Given the description of an element on the screen output the (x, y) to click on. 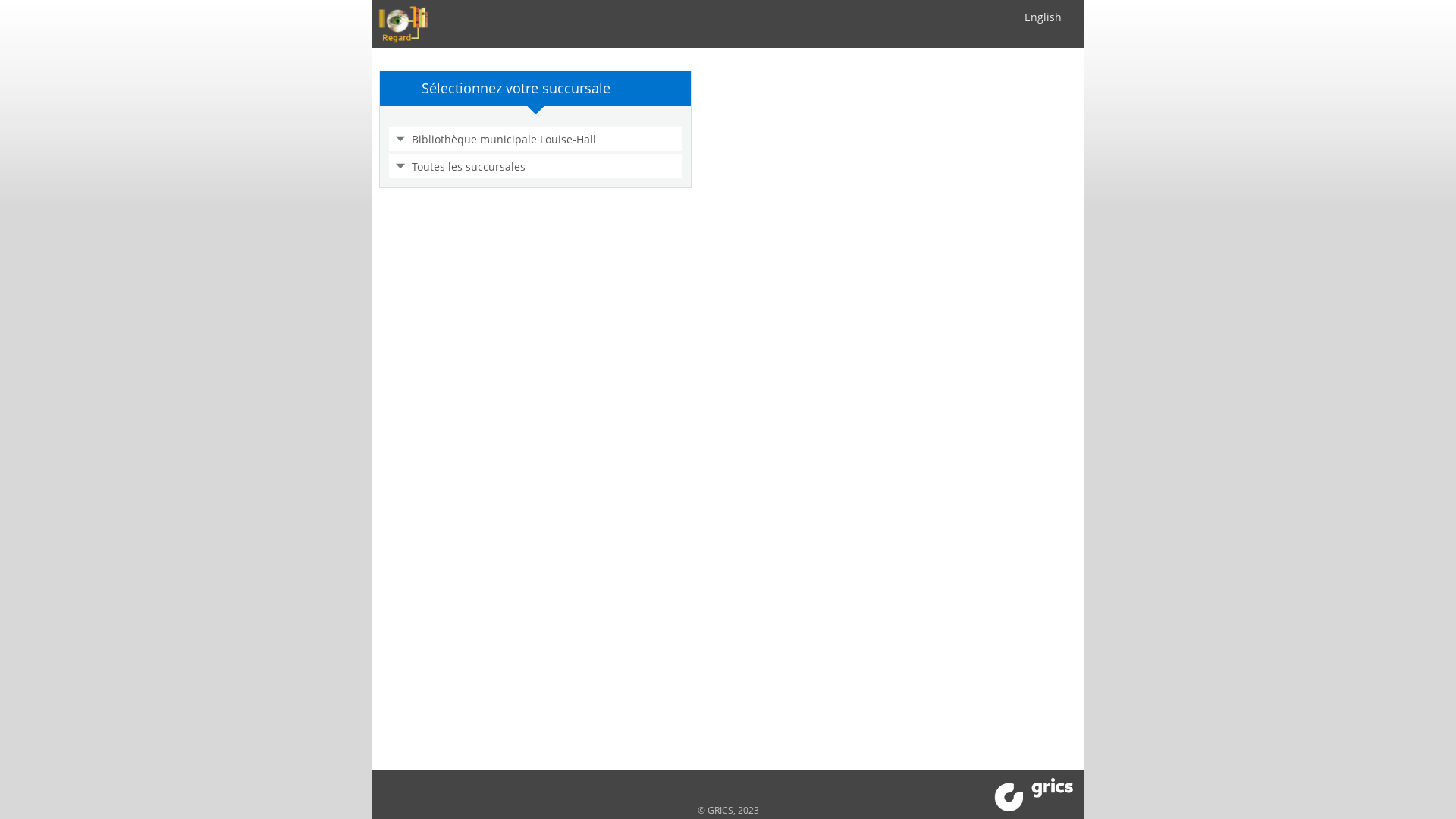
Toutes les succursales Element type: text (542, 166)
Toutes les succursales Element type: text (535, 165)
Regard 10.0.328.9 Element type: hover (402, 23)
English Element type: text (1042, 16)
